Given the description of an element on the screen output the (x, y) to click on. 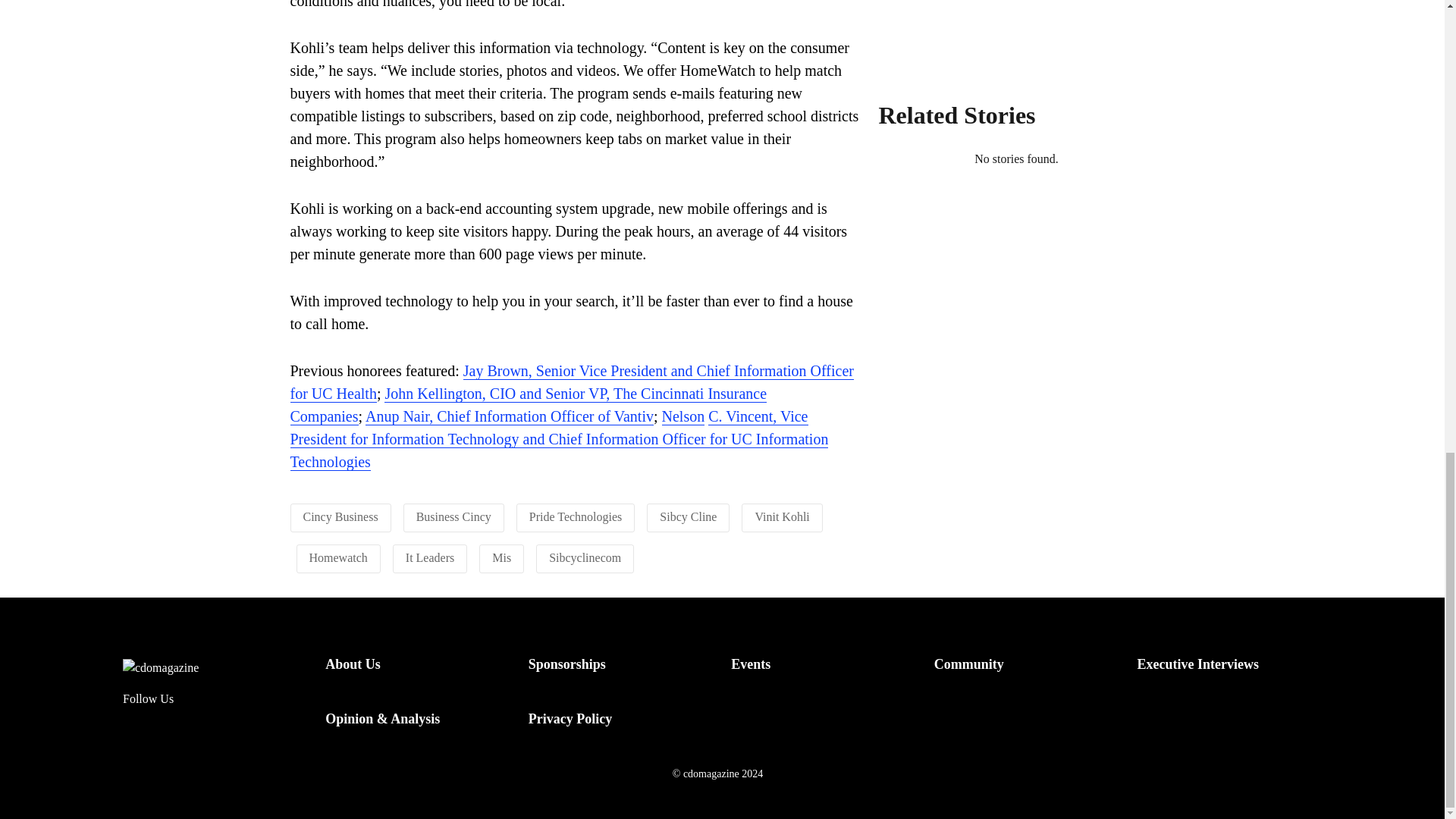
Mis (501, 557)
Sponsorships (566, 663)
Anup Nair, Chief Information Officer of Vantiv (509, 416)
Nelson (683, 416)
Homewatch (338, 557)
Sibcy Cline (687, 516)
It Leaders (430, 557)
Business Cincy (454, 516)
Sibcyclinecom (584, 557)
Pride Technologies (576, 516)
About Us (352, 663)
Cincy Business (340, 516)
